Given the description of an element on the screen output the (x, y) to click on. 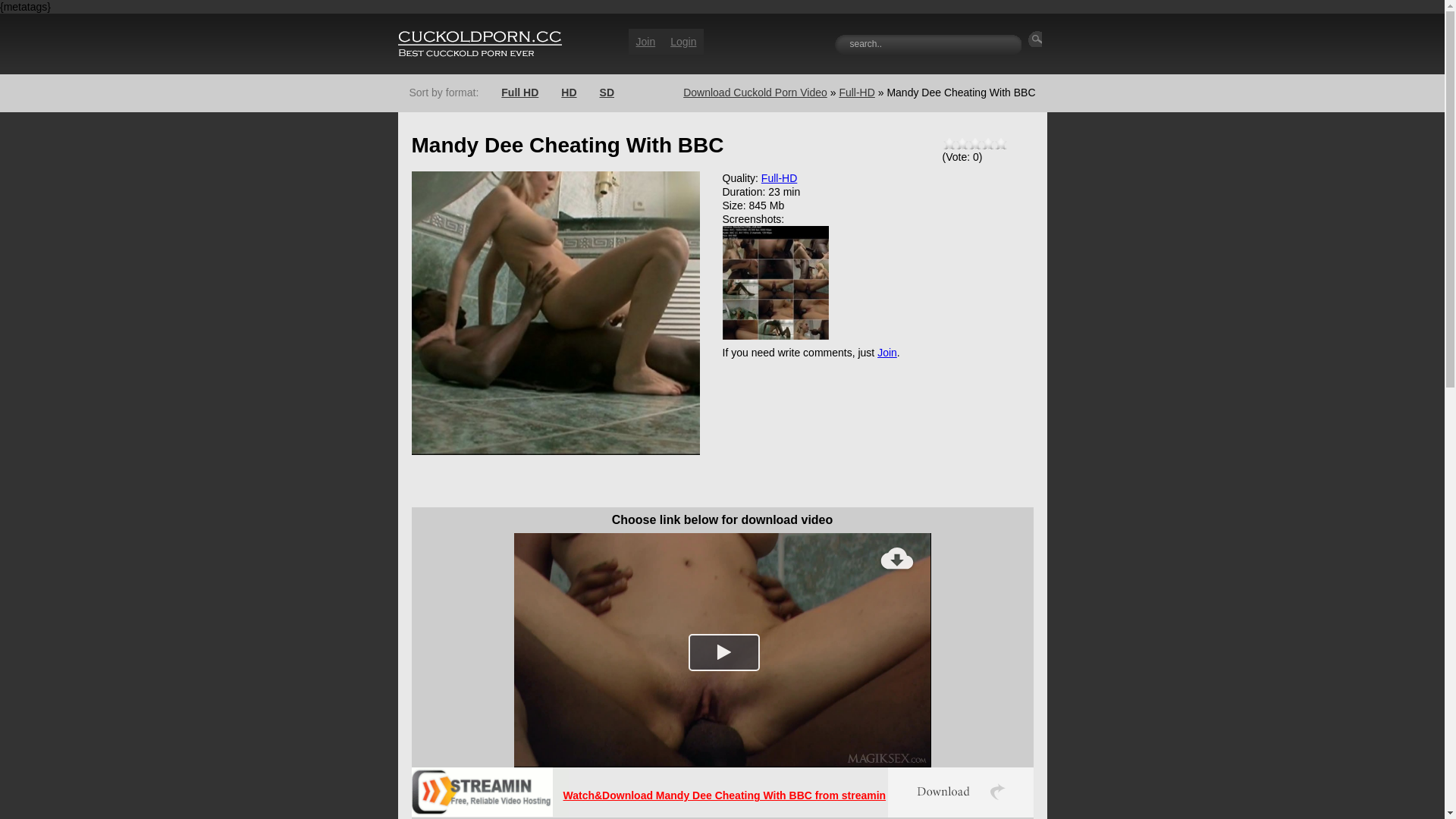
3 Element type: text (973, 143)
4 Element type: text (987, 143)
Login Element type: text (682, 41)
Mandy Dee Cheating With BBC Element type: hover (774, 282)
SD Element type: text (606, 92)
Join Element type: text (644, 41)
Full HD Element type: text (519, 92)
2 Element type: text (961, 143)
5 Element type: text (999, 143)
Full-HD Element type: text (779, 178)
1 Element type: text (947, 143)
HD Element type: text (568, 92)
Watch&Download Mandy Dee Cheating With BBC from streamin Element type: text (723, 795)
Download Cuckold Porn Video Element type: text (755, 92)
Join Element type: text (887, 352)
Full-HD Element type: text (856, 92)
